Given the description of an element on the screen output the (x, y) to click on. 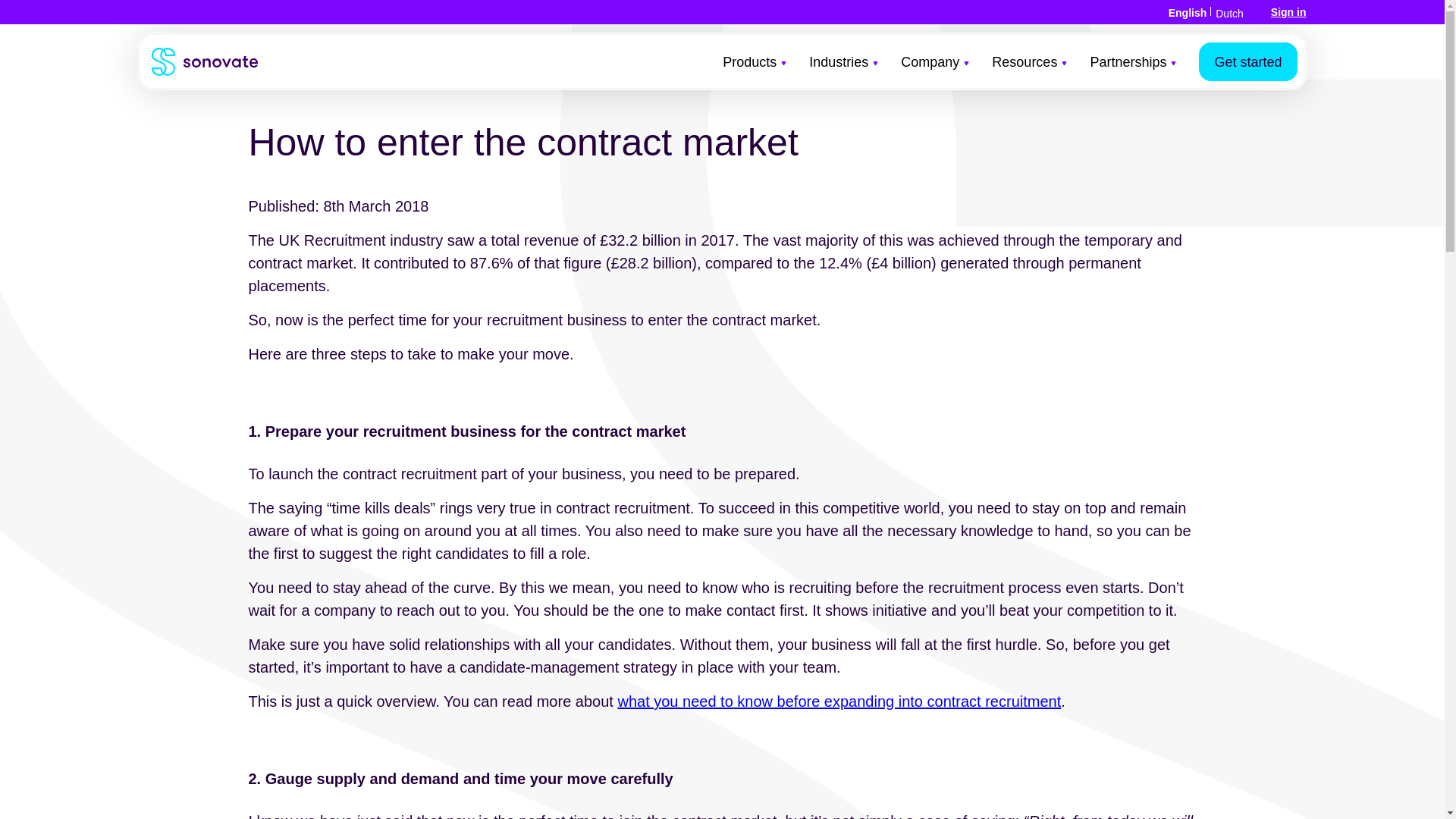
Sign in (1288, 11)
Dutch (1229, 13)
English (1188, 12)
Dutch (1229, 13)
English (1188, 12)
Products (754, 76)
